Given the description of an element on the screen output the (x, y) to click on. 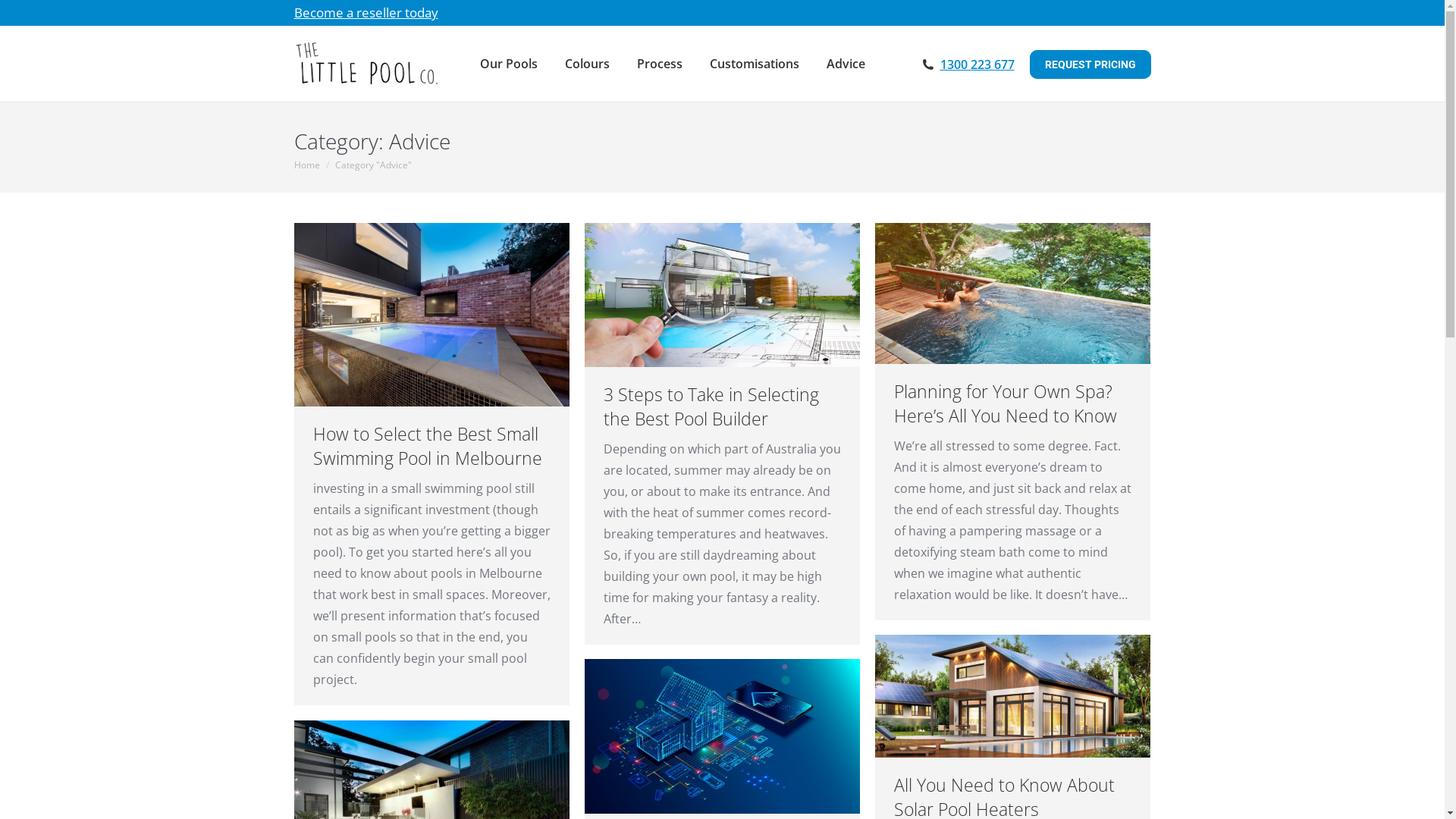
How to pick a best pool builder Element type: hover (721, 294)
Process Element type: text (659, 63)
Become a reseller today Element type: text (366, 12)
REQUEST PRICING Element type: text (1090, 64)
Planning your own Spa_Spa benefits Element type: hover (1012, 293)
Selecting a small swimming pool in Melbourne Element type: hover (431, 314)
Home Element type: text (307, 164)
Solar pool heating Element type: hover (1012, 695)
1300 223 677 Element type: text (977, 64)
How to Select the Best Small Swimming Pool in Melbourne Element type: text (426, 445)
Colours Element type: text (586, 63)
Advice Element type: text (845, 63)
3 Steps to Take in Selecting the Best Pool Builder Element type: text (711, 406)
Our Pools Element type: text (508, 63)
Customisations Element type: text (754, 63)
